Given the description of an element on the screen output the (x, y) to click on. 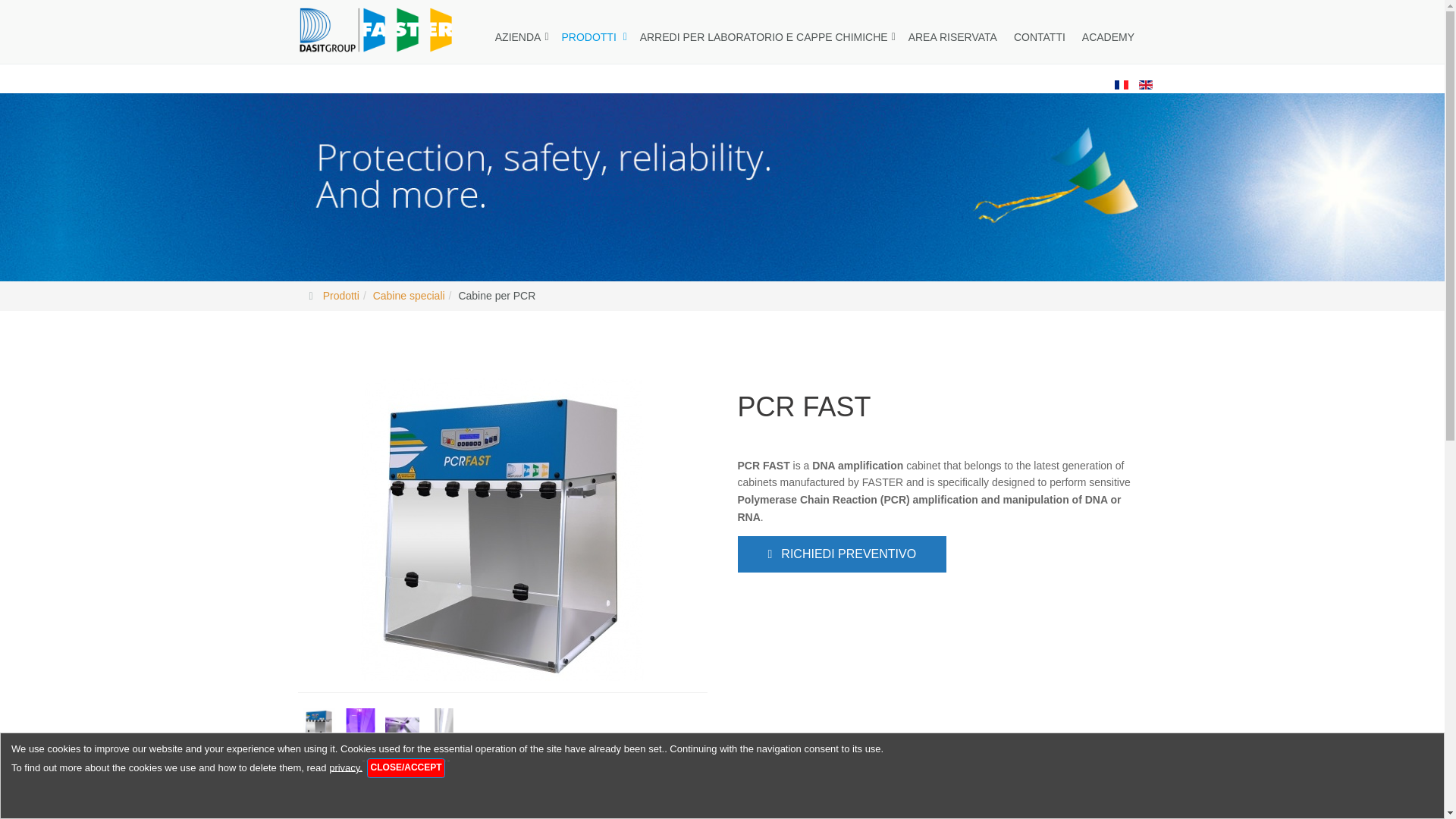
Laboratory Equipment and Laminar Flow Systems - Faster srl  (374, 30)
privacy. (345, 767)
